Given the description of an element on the screen output the (x, y) to click on. 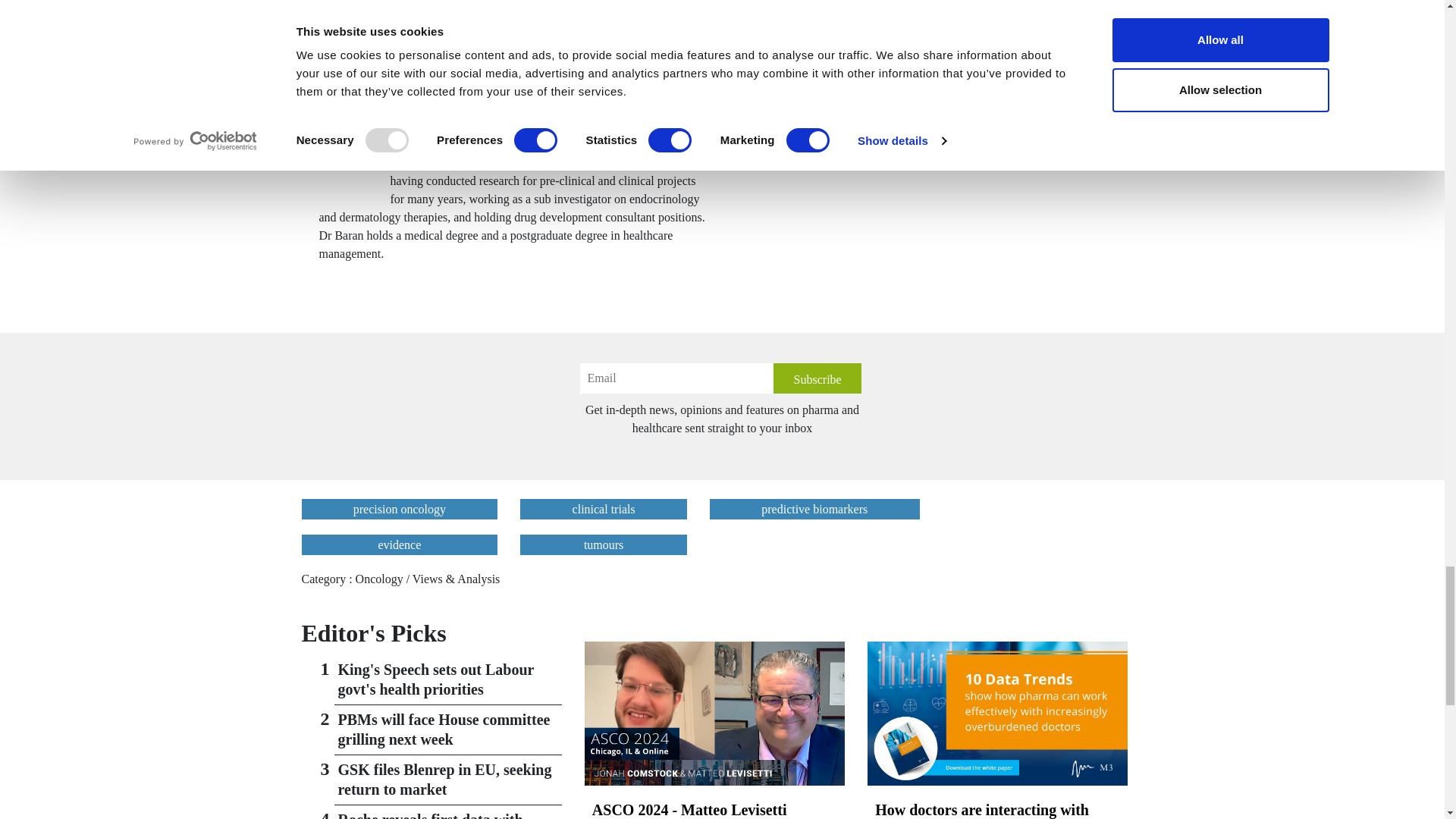
Subscribe (817, 378)
